Given the description of an element on the screen output the (x, y) to click on. 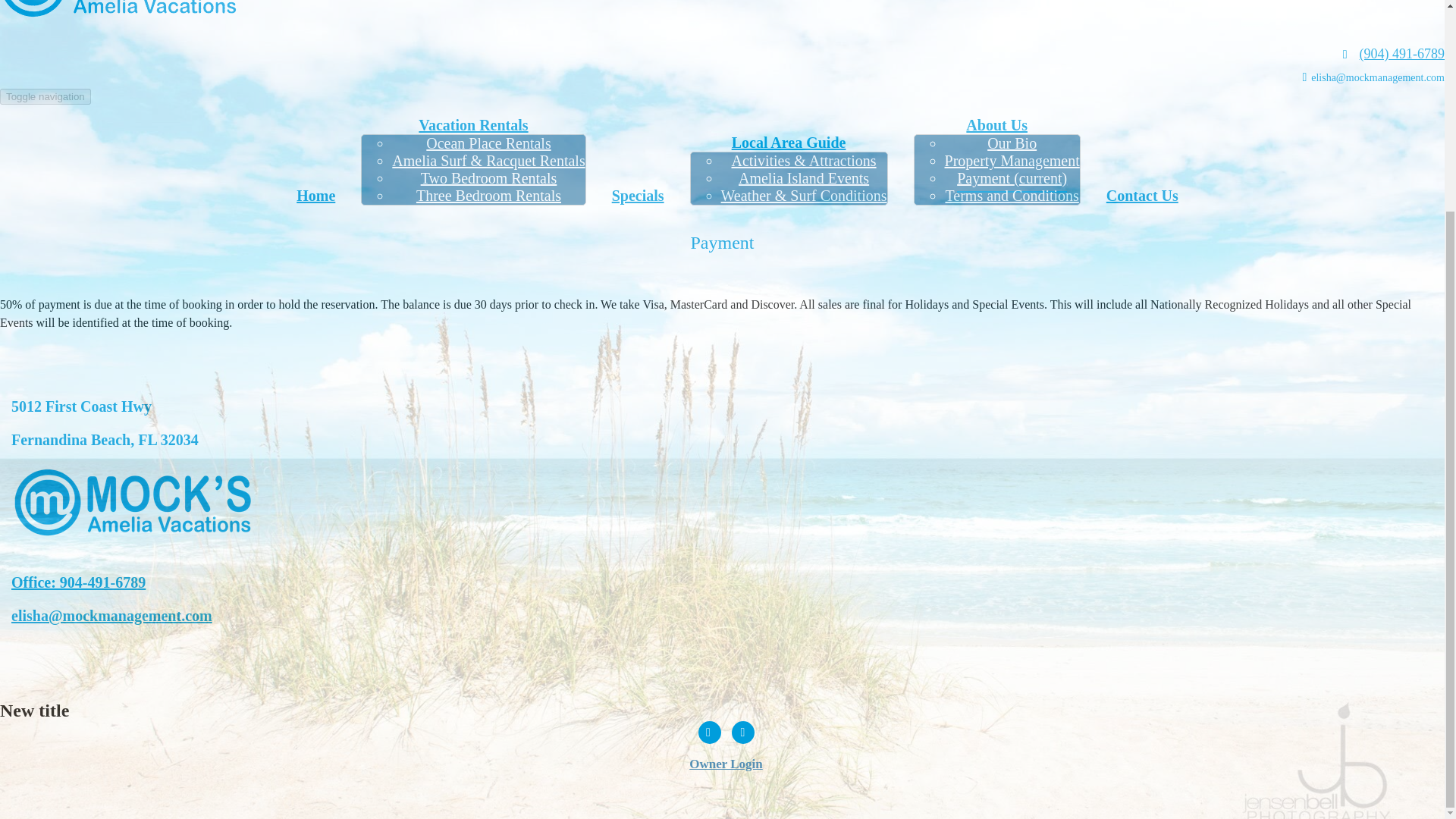
Payment (722, 242)
Two Bedroom Rentals (488, 177)
Office: 904-491-6789 (78, 582)
Local Area Guide (788, 142)
Amelia Island Events (803, 177)
Toggle navigation (45, 96)
About Us (996, 125)
Specials (637, 195)
Owner Login (721, 763)
Terms and Conditions (1011, 195)
Ocean Place Rentals (488, 143)
Our Bio (1011, 143)
Three Bedroom Rentals (488, 195)
Home (315, 195)
Contact Us (1141, 195)
